Given the description of an element on the screen output the (x, y) to click on. 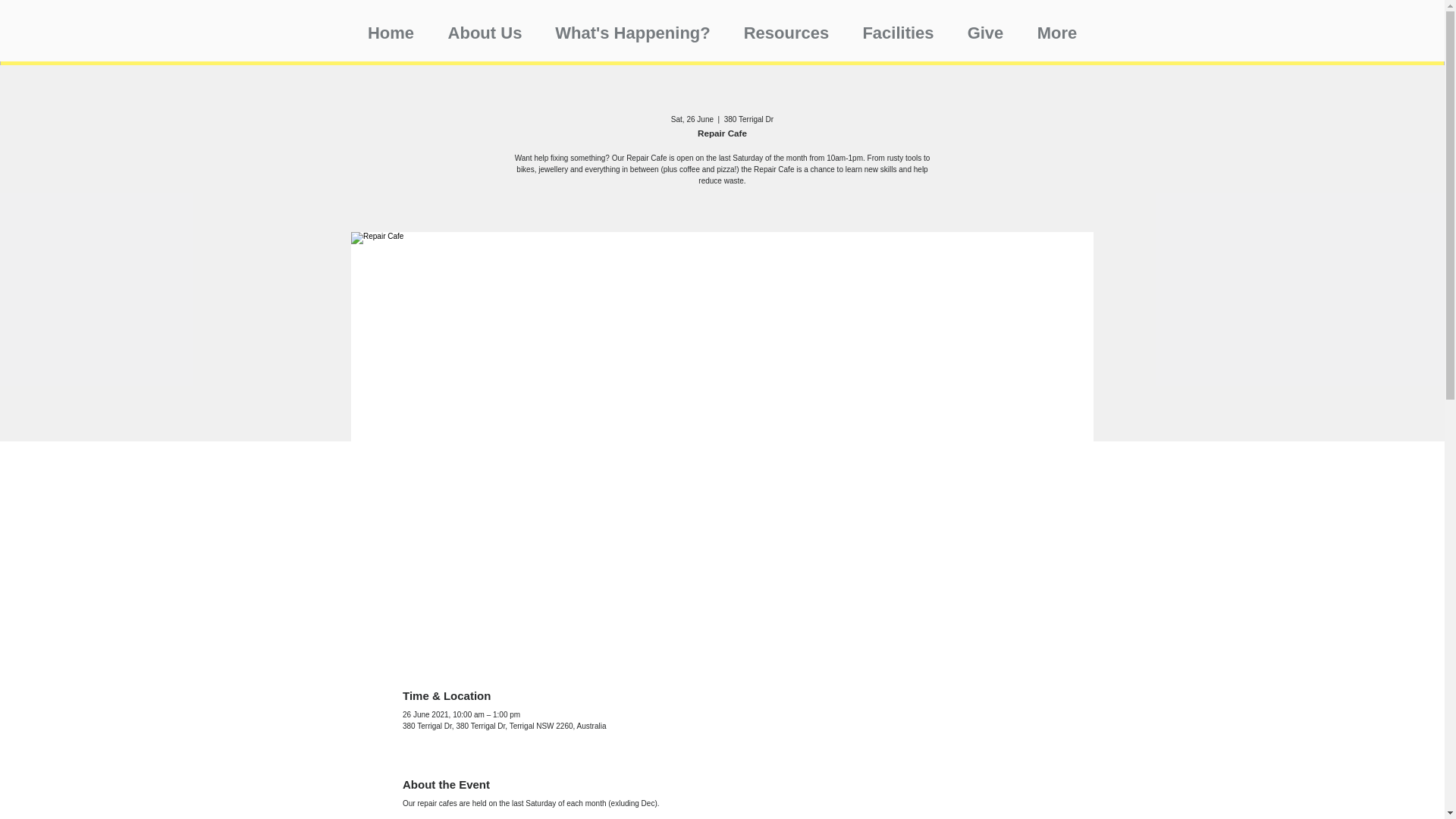
Home (390, 26)
Give (985, 26)
